Given the description of an element on the screen output the (x, y) to click on. 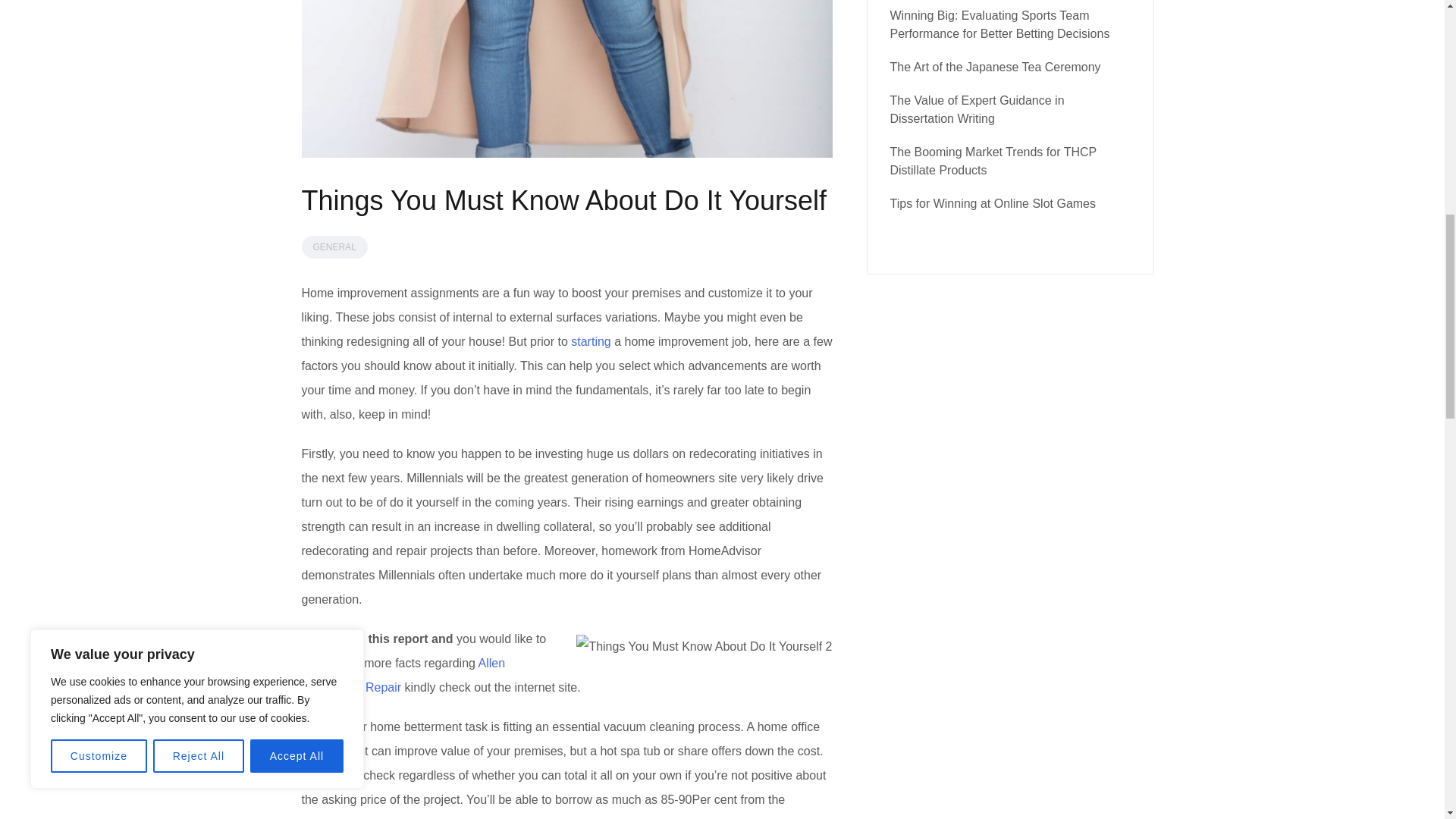
Allen Foundation Repair (403, 674)
GENERAL (334, 246)
starting (590, 341)
